Given the description of an element on the screen output the (x, y) to click on. 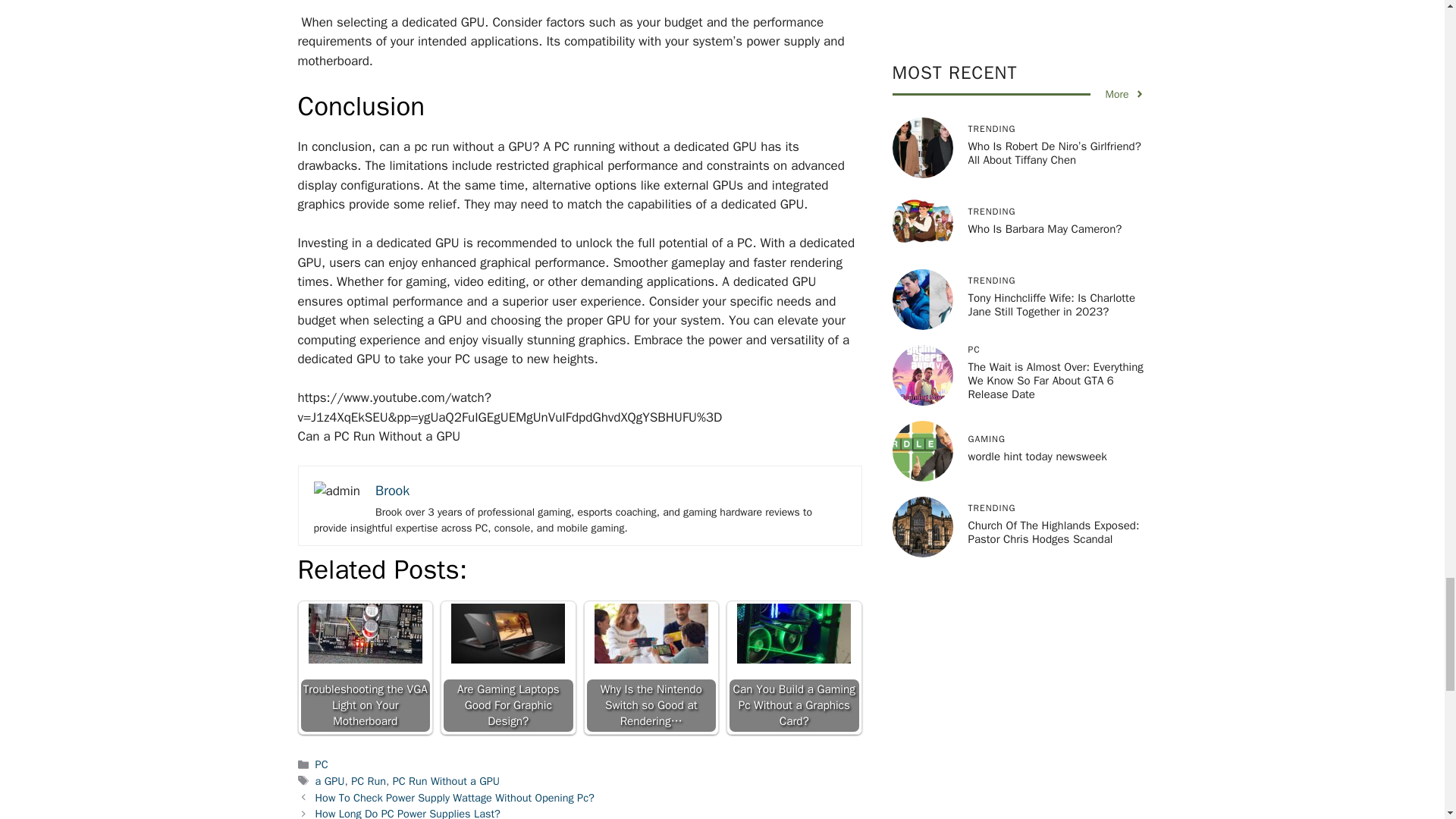
Troubleshooting the VGA Light on Your Motherboard (365, 667)
Brook (392, 490)
